Given the description of an element on the screen output the (x, y) to click on. 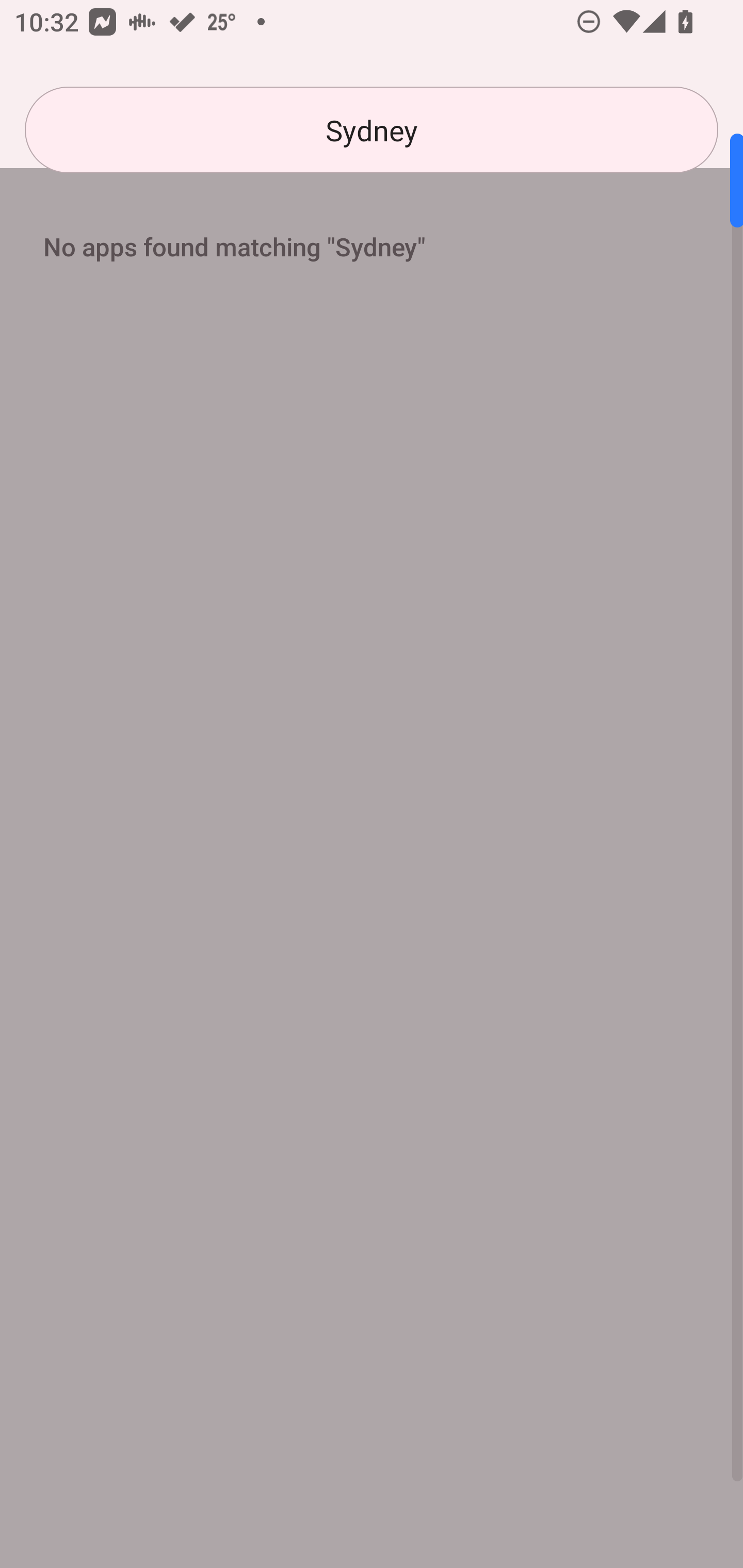
Sydney (371, 130)
